Given the description of an element on the screen output the (x, y) to click on. 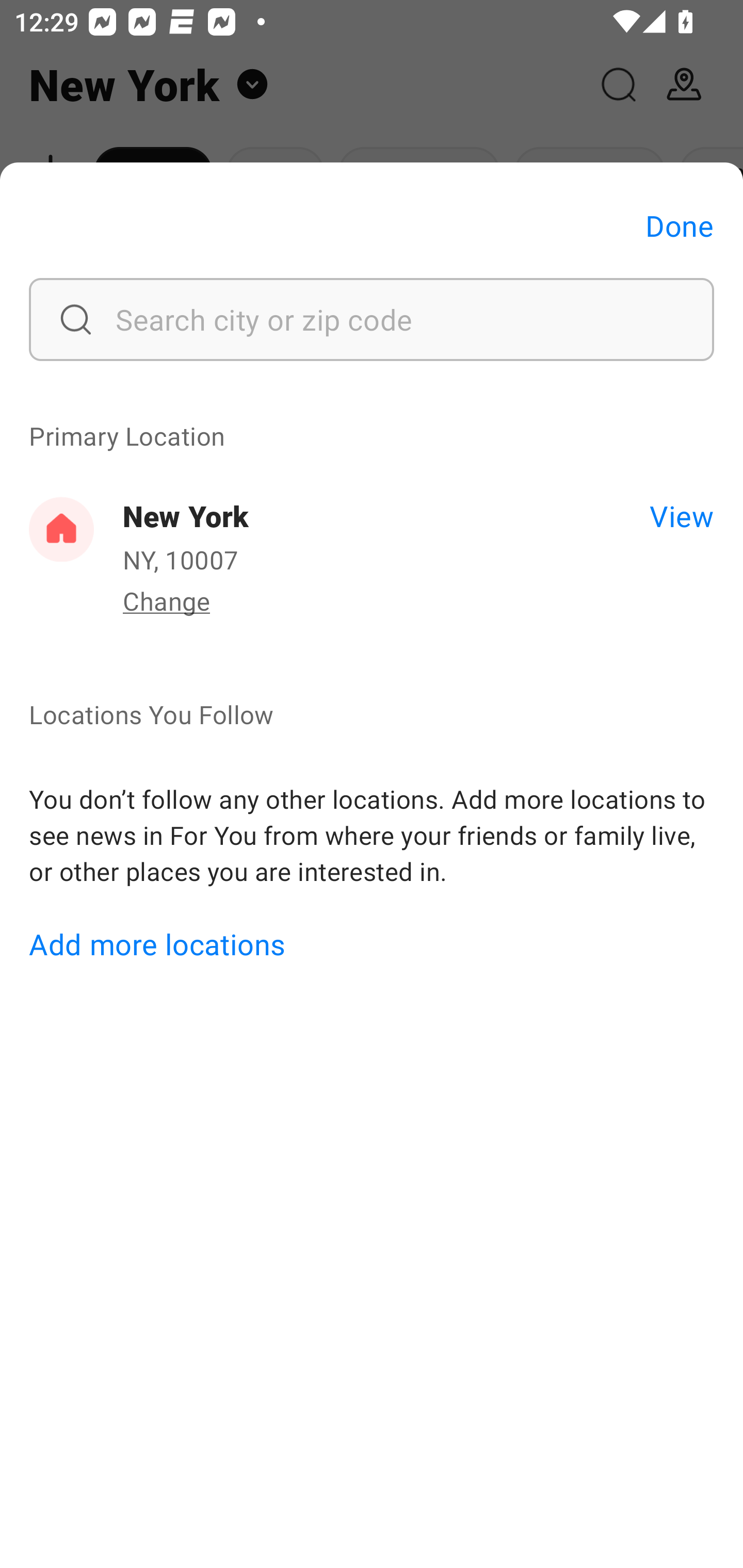
Done (679, 225)
Search city or zip code (371, 318)
View (681, 514)
Change (166, 600)
